Given the description of an element on the screen output the (x, y) to click on. 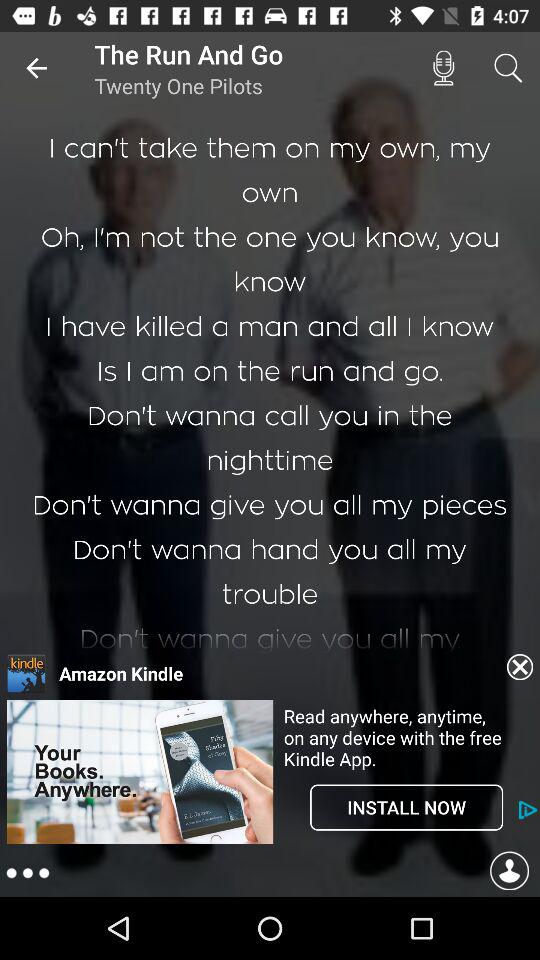
takes you to your profile (509, 873)
